Given the description of an element on the screen output the (x, y) to click on. 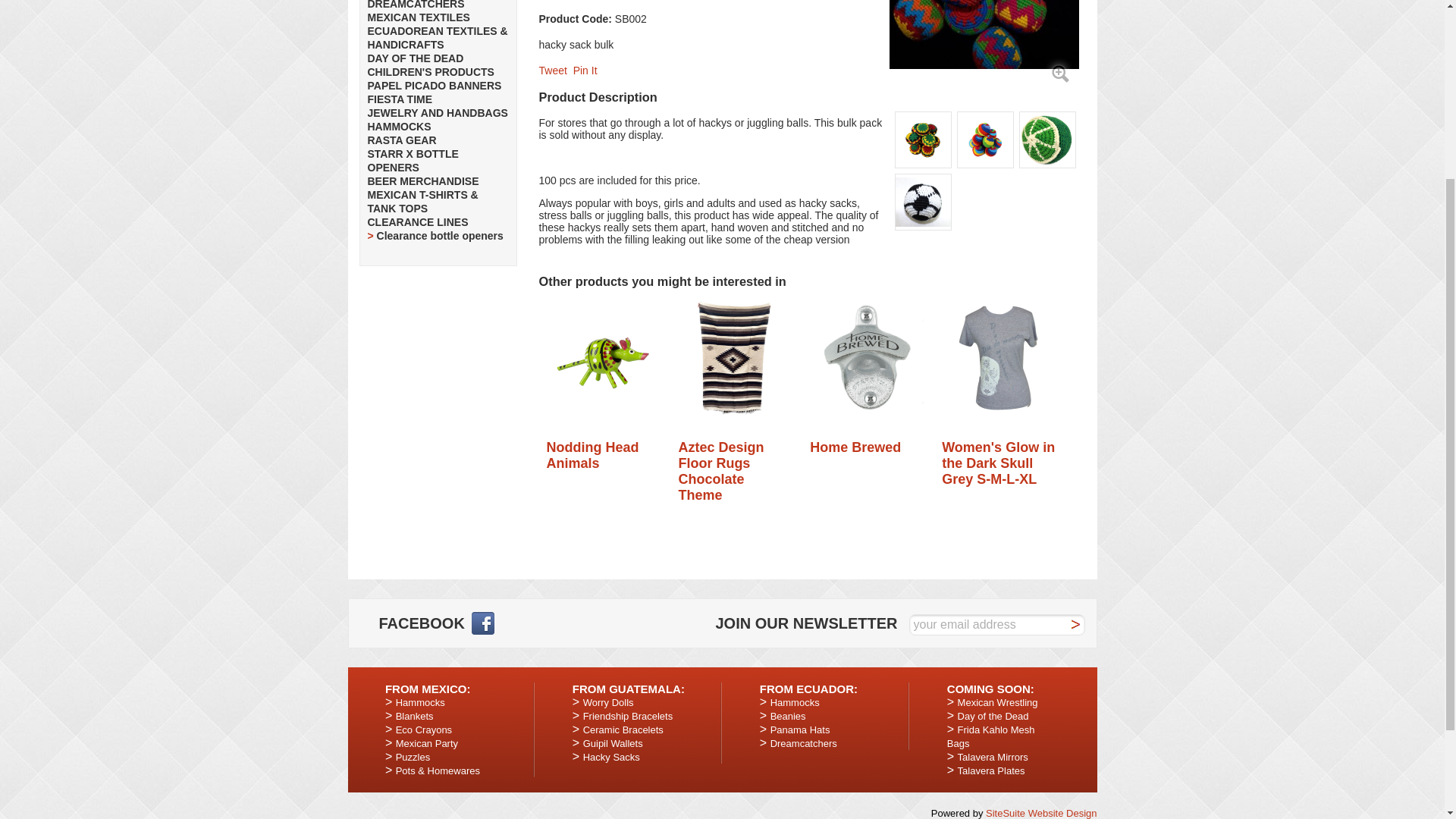
DREAMCATCHERS (415, 4)
MEXICAN TEXTILES (417, 17)
JEWELRY AND HANDBAGS (436, 112)
STARR X BOTTLE OPENERS (412, 160)
Aztec Design Floor Rugs Chocolate Theme (735, 357)
BEER MERCHANDISE (422, 181)
CHILDREN'S PRODUCTS (429, 71)
RASTA GEAR (400, 140)
Clearance bottle openers (440, 235)
Pin It (584, 70)
DAY OF THE DEAD (414, 58)
CLEARANCE LINES (416, 222)
FIESTA TIME (399, 99)
PAPEL PICADO BANNERS (433, 85)
your email address (996, 624)
